Given the description of an element on the screen output the (x, y) to click on. 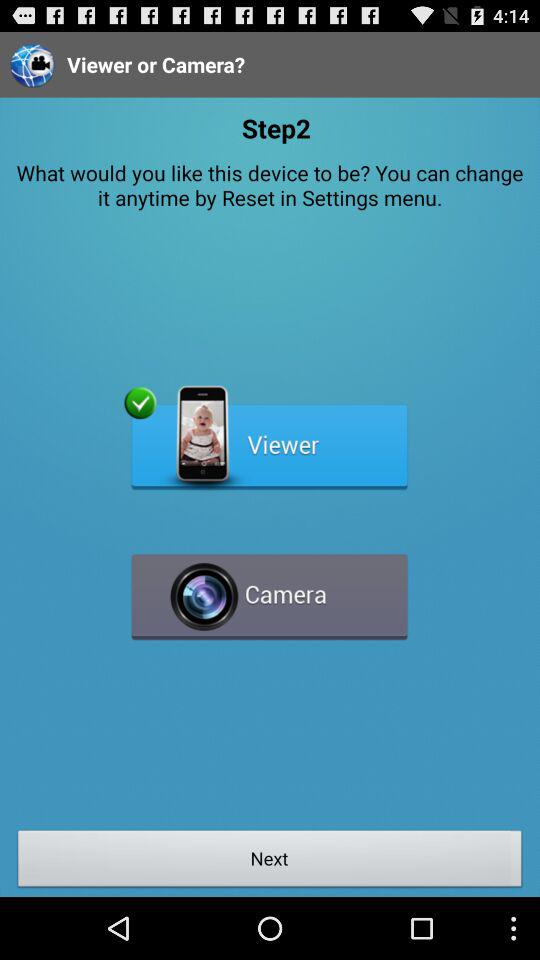
press next button (269, 861)
